Given the description of an element on the screen output the (x, y) to click on. 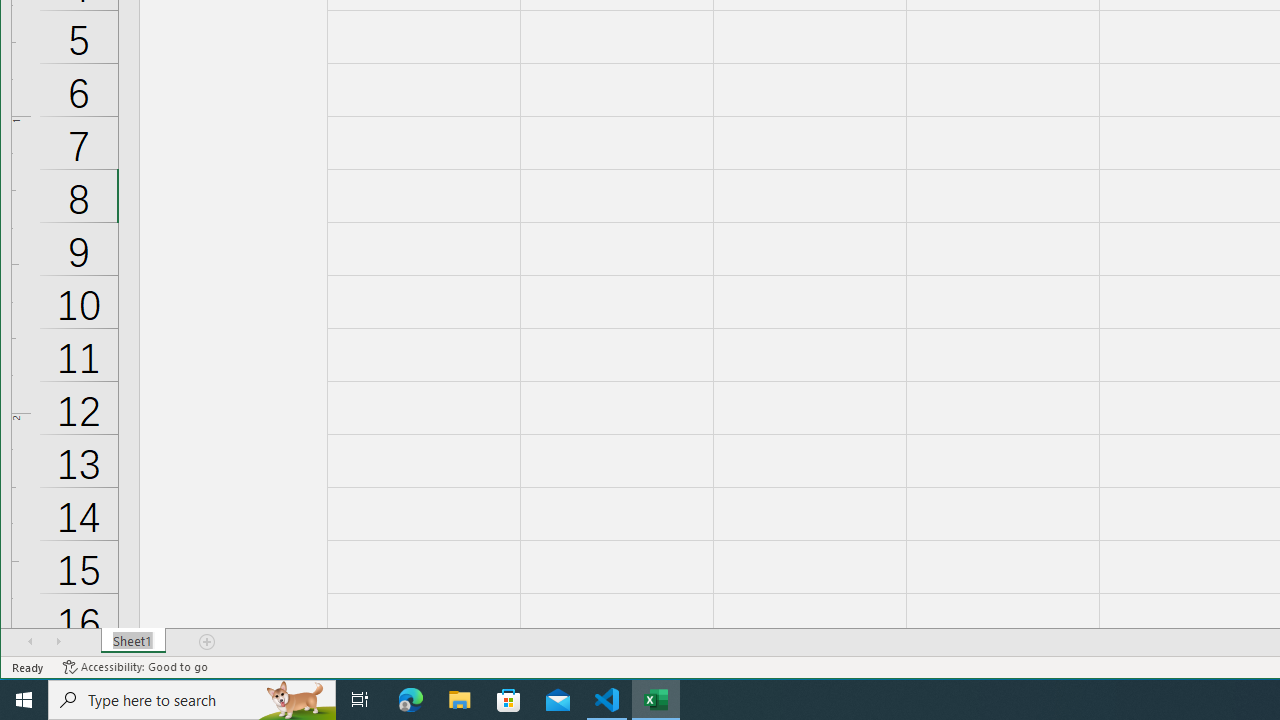
Search highlights icon opens search home window (295, 699)
